Given the description of an element on the screen output the (x, y) to click on. 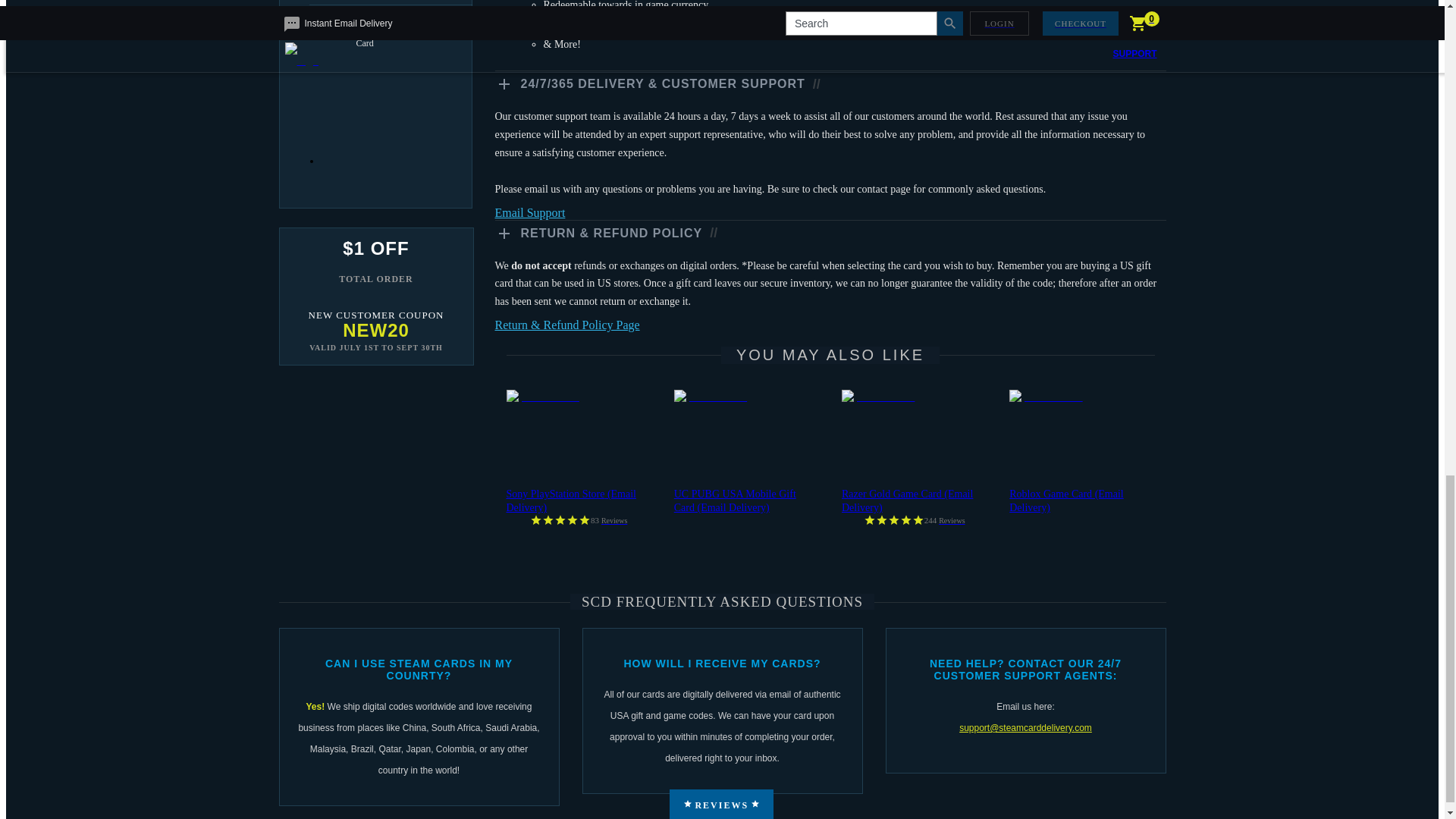
5000 USA Fortnite Gift Card (390, 2)
Reviews (612, 519)
Email Support (830, 213)
Reviews (949, 519)
